Given the description of an element on the screen output the (x, y) to click on. 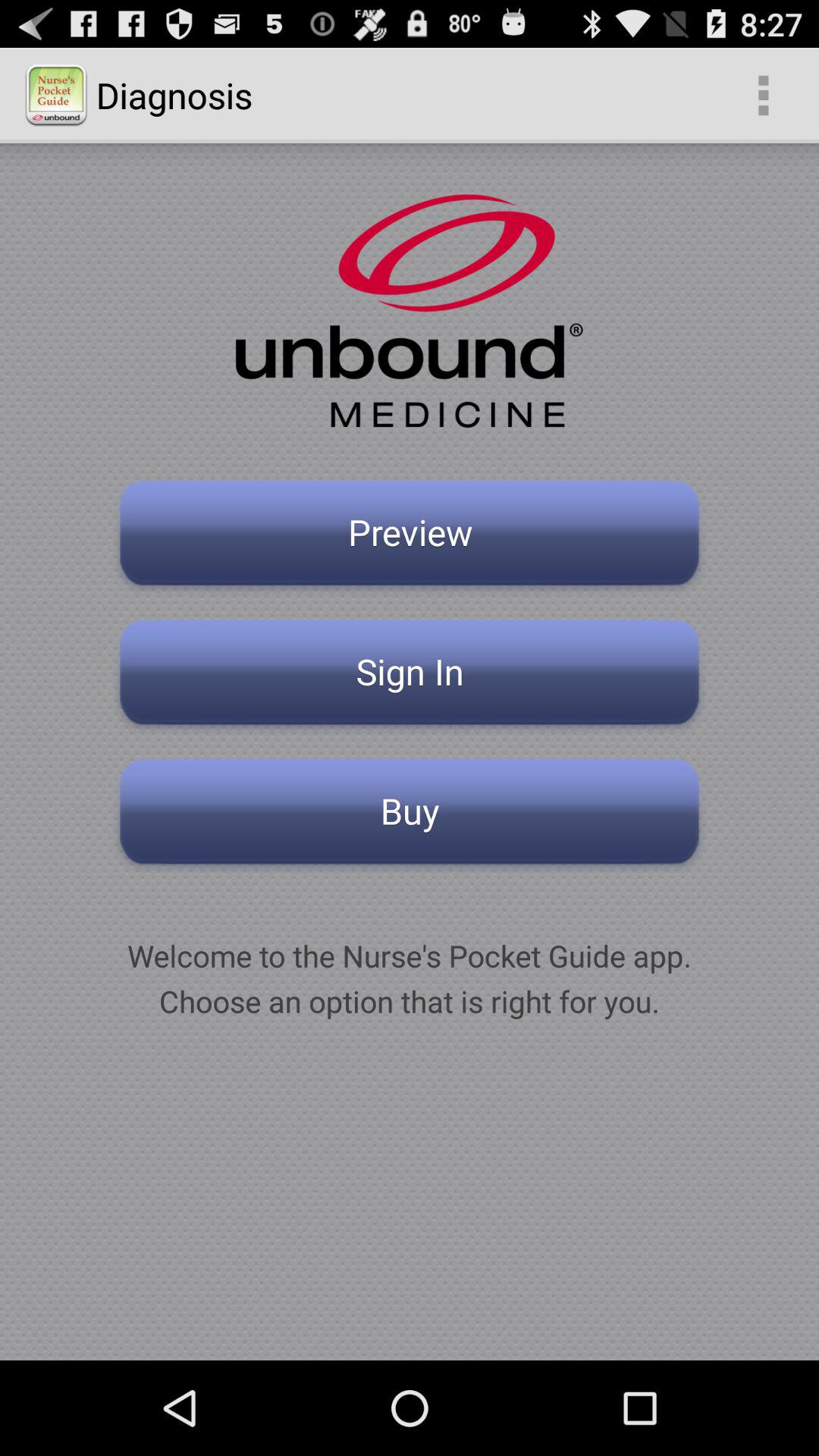
launch the item above the sign in button (409, 537)
